Given the description of an element on the screen output the (x, y) to click on. 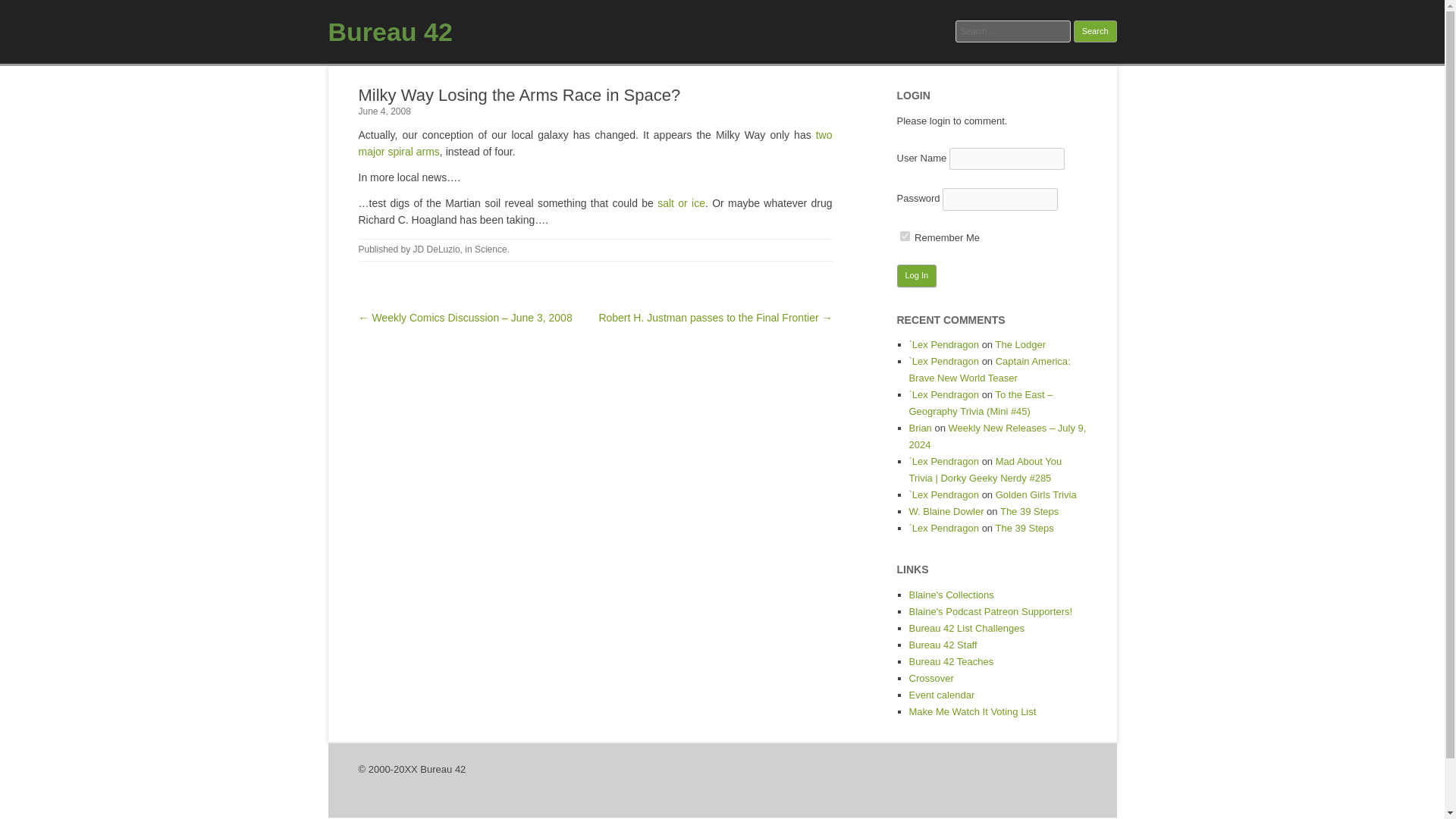
Bureau 42 Teaches (950, 661)
W. Blaine Dowler (946, 511)
salt or ice (681, 203)
Log In (916, 275)
View all posts by JD DeLuzio (436, 249)
Bureau 42 (389, 31)
Crossover (930, 677)
Search (1095, 31)
Event calendar (941, 695)
Skip to content (757, 71)
Blaine's Collections (950, 594)
Search (1095, 31)
Bureau 42 (389, 31)
The 39 Steps (1029, 511)
